Given the description of an element on the screen output the (x, y) to click on. 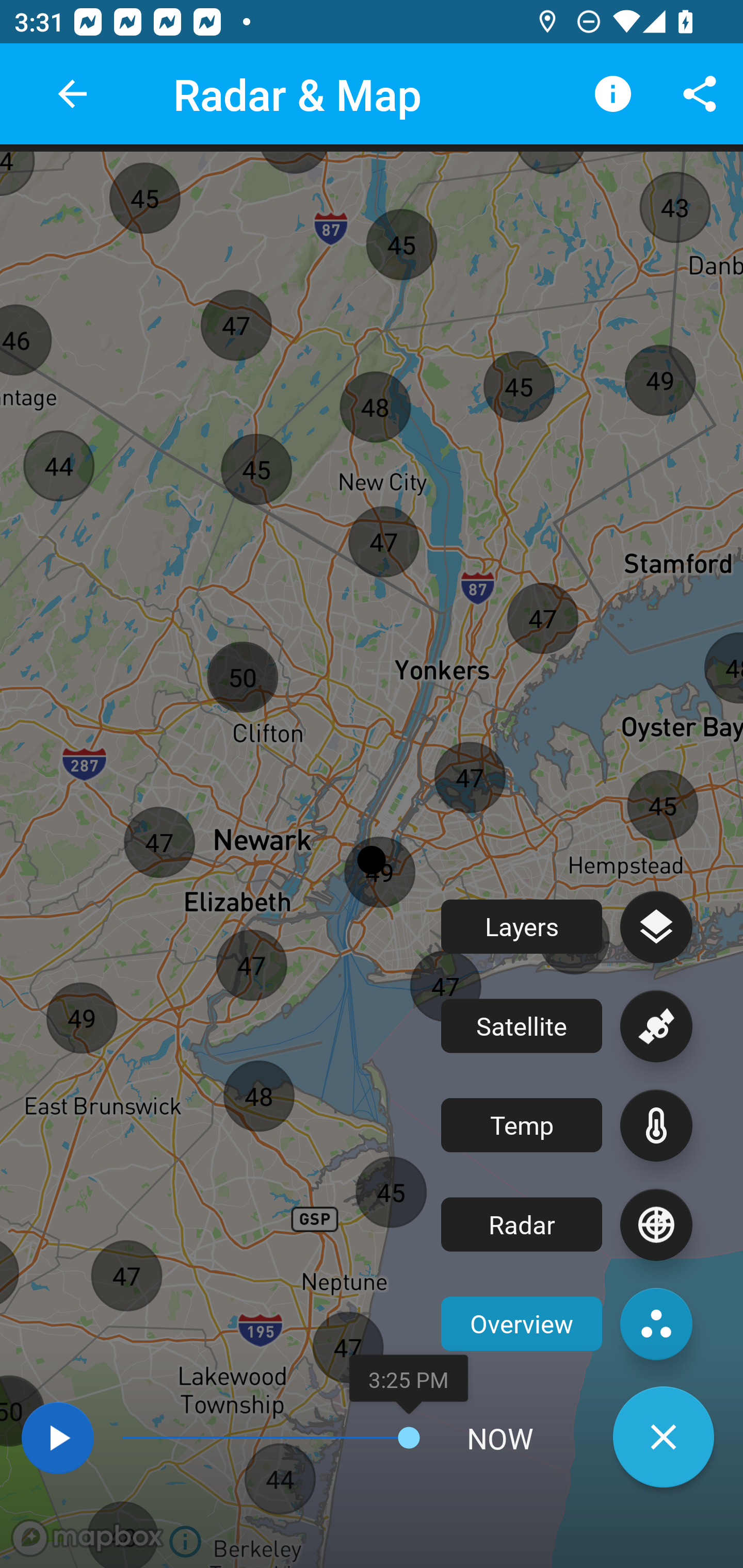
back (71, 93)
Legend (612, 93)
Share (699, 93)
Layers (566, 926)
Satellite (566, 1026)
Temp (566, 1125)
Radar (566, 1224)
Overview (566, 1323)
Close layers menu. (663, 1437)
